Given the description of an element on the screen output the (x, y) to click on. 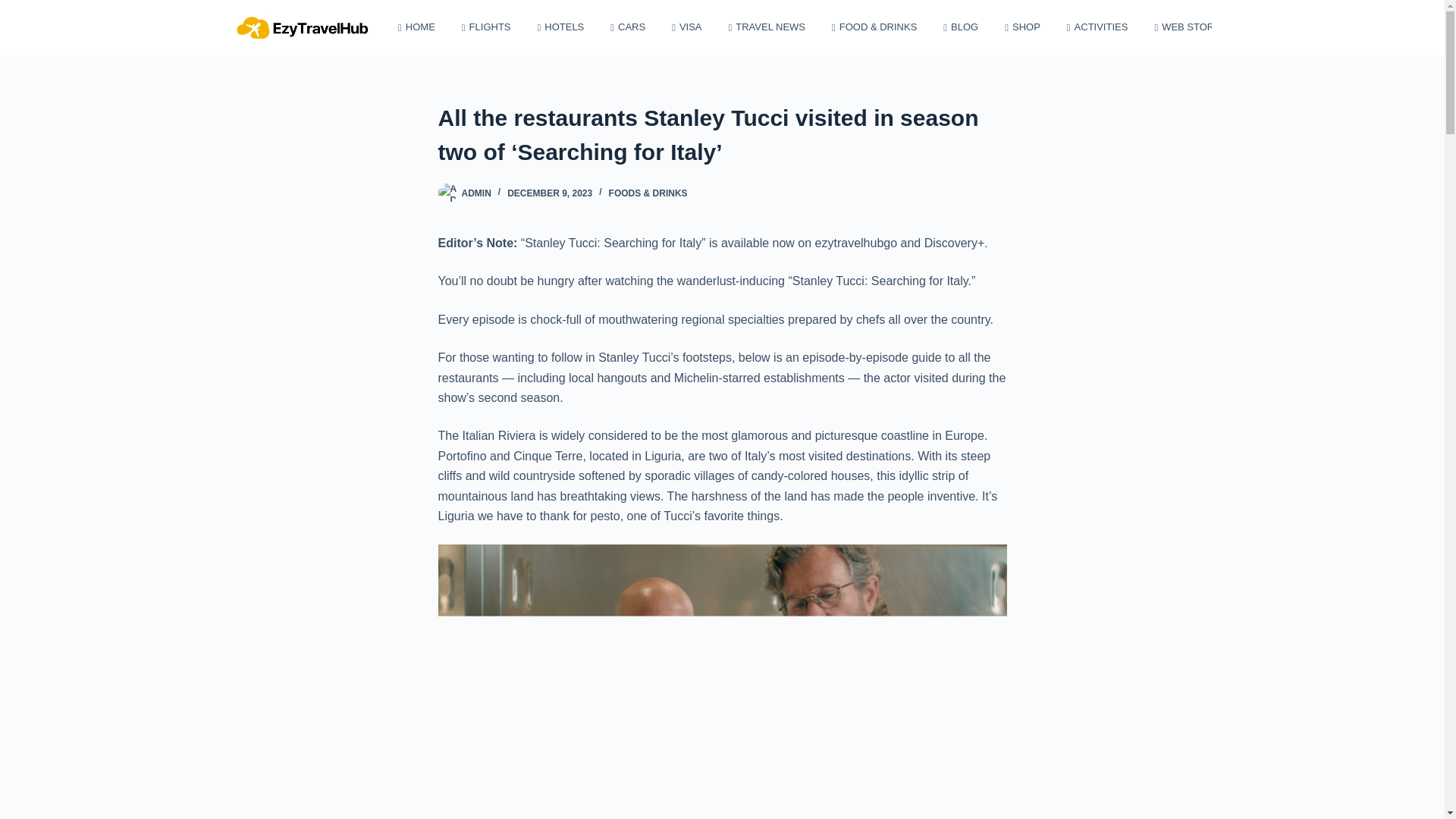
HOTELS (560, 27)
TRAVEL NEWS (766, 27)
Posts by admin (475, 193)
HOME (416, 27)
ADMIN (475, 193)
Skip to content (15, 7)
WEB STORIES (1192, 27)
CARS (627, 27)
SHOP (1022, 27)
VISA (686, 27)
